Given the description of an element on the screen output the (x, y) to click on. 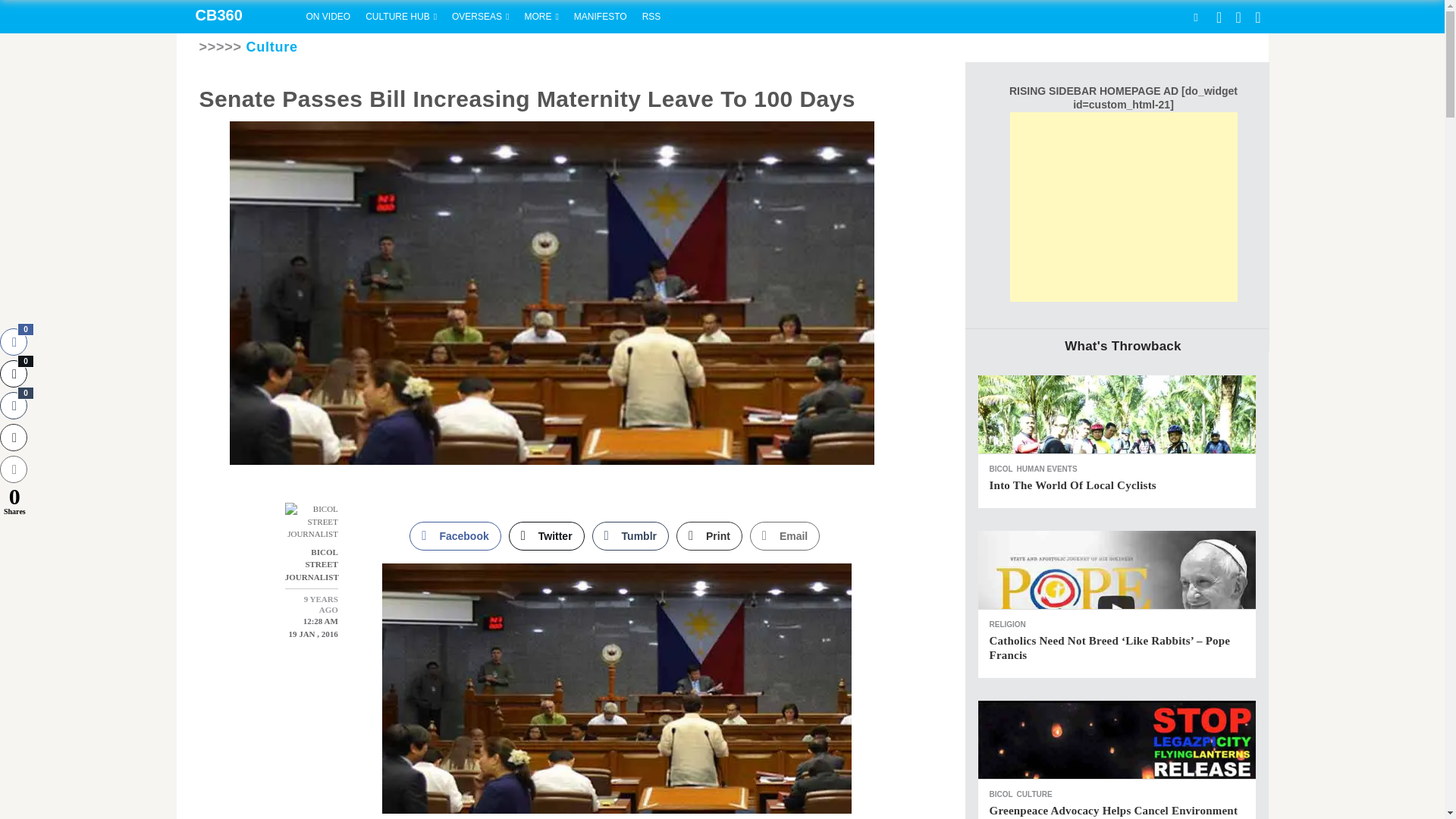
MORE (541, 16)
ON VIDEO (328, 16)
OVERSEAS (480, 16)
CB360 (237, 16)
RSS Feed-Subscribe (651, 16)
About Us (600, 16)
CULTURE HUB (401, 16)
world (480, 16)
